Given the description of an element on the screen output the (x, y) to click on. 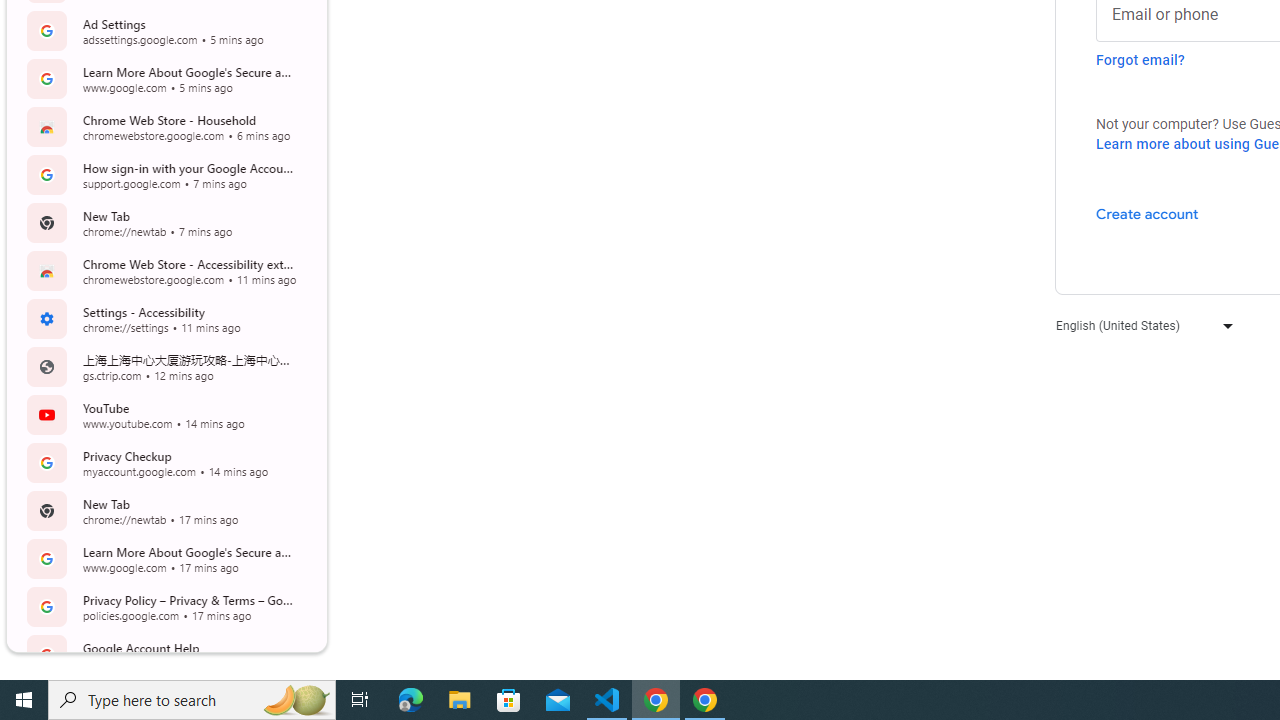
Start (24, 699)
Microsoft Store (509, 699)
Type here to search (191, 699)
Task View (359, 699)
Create account (1146, 213)
Ad Settings adssettings.google.com 5 mins ago Open Tab (164, 30)
Privacy Checkup myaccount.google.com 14 mins ago Open Tab (164, 462)
Forgot email? (1140, 59)
English (United States) (1139, 324)
Settings - Accessibility settings 11 mins ago Open Tab (164, 318)
